Given the description of an element on the screen output the (x, y) to click on. 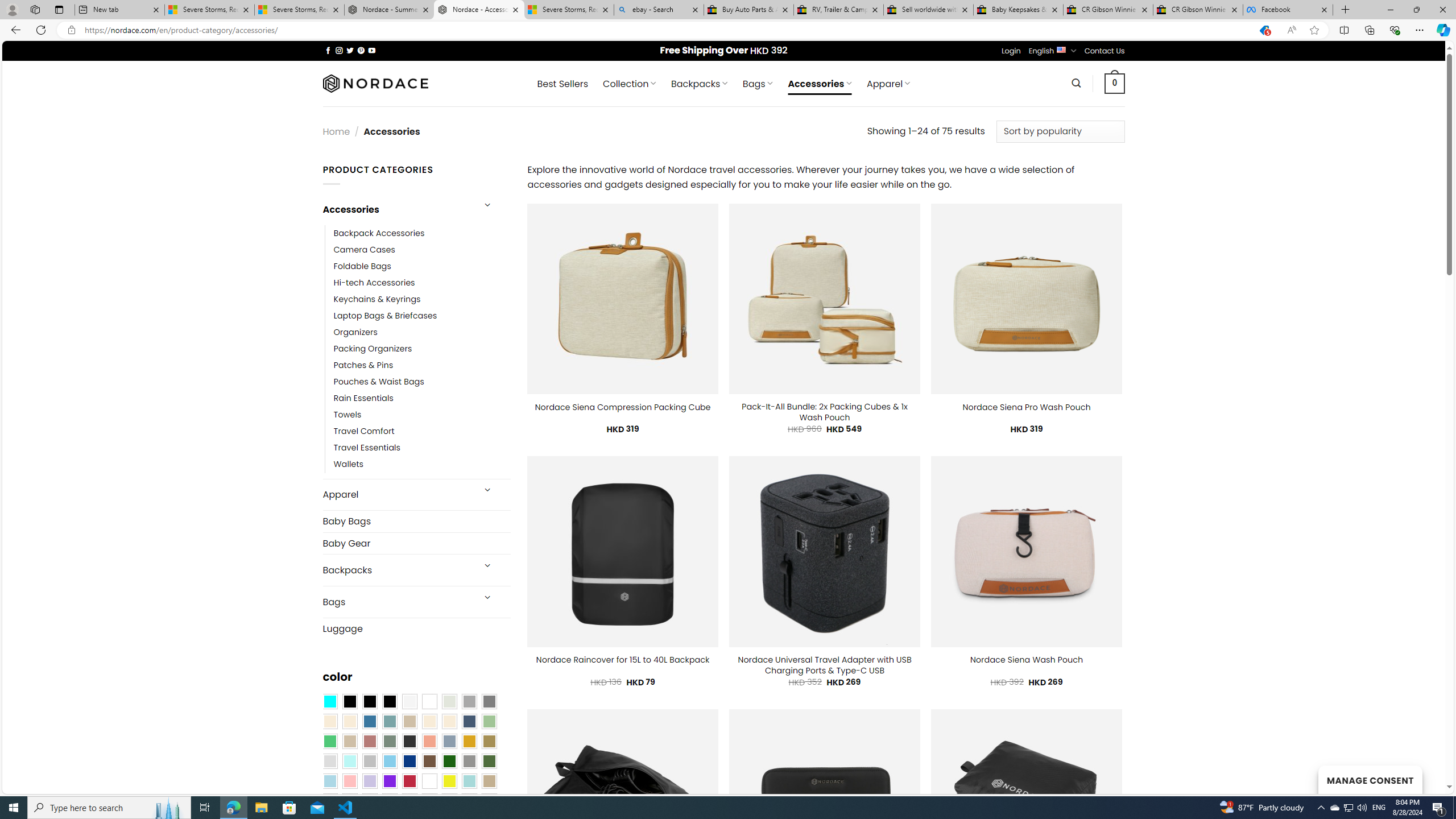
Dusty Blue (449, 741)
Light Green (488, 721)
Wallets (348, 464)
Gold (468, 741)
All Black (349, 701)
Hi-tech Accessories (373, 282)
Follow on Pinterest (360, 49)
Baby Gear (416, 542)
Black-Brown (389, 701)
Beige (329, 721)
Buy Auto Parts & Accessories | eBay (747, 9)
Towels (347, 415)
Travel Essentials (422, 448)
Silver (369, 761)
Facebook (1287, 9)
